Given the description of an element on the screen output the (x, y) to click on. 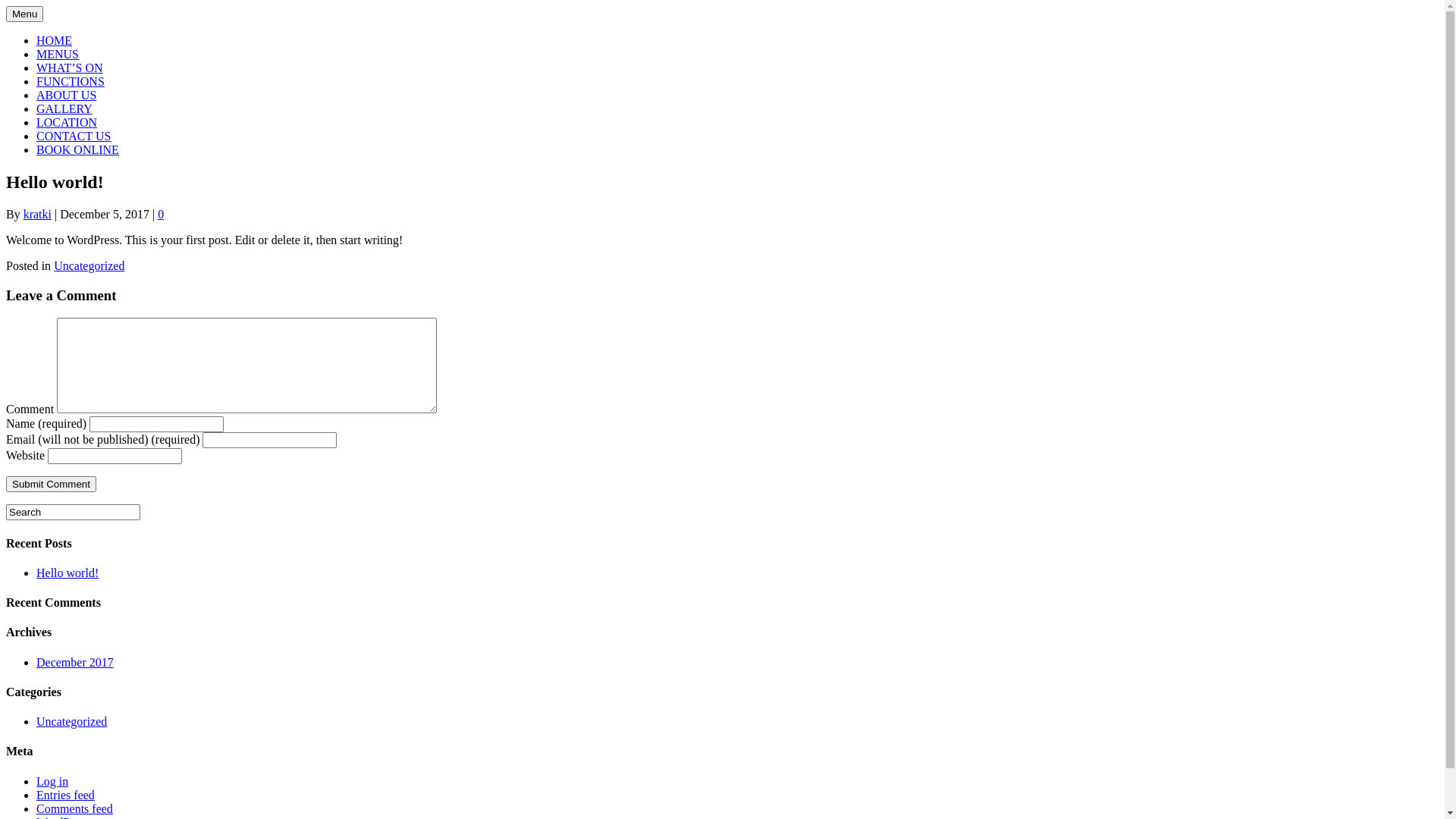
Comments feed Element type: text (74, 808)
CONTACT US Element type: text (73, 135)
0 Element type: text (160, 213)
Type and press Enter to search. Element type: hover (722, 512)
BOOK ONLINE Element type: text (77, 149)
GALLERY Element type: text (64, 108)
ABOUT US Element type: text (66, 94)
MENUS Element type: text (57, 53)
HOME Element type: text (54, 40)
Uncategorized Element type: text (71, 721)
Entries feed Element type: text (65, 794)
Hello world! Element type: text (67, 572)
LOCATION Element type: text (66, 122)
Uncategorized Element type: text (88, 265)
FUNCTIONS Element type: text (70, 81)
December 2017 Element type: text (74, 661)
Menu Element type: text (24, 13)
Log in Element type: text (52, 781)
kratki Element type: text (37, 213)
Submit Comment Element type: text (51, 484)
